Given the description of an element on the screen output the (x, y) to click on. 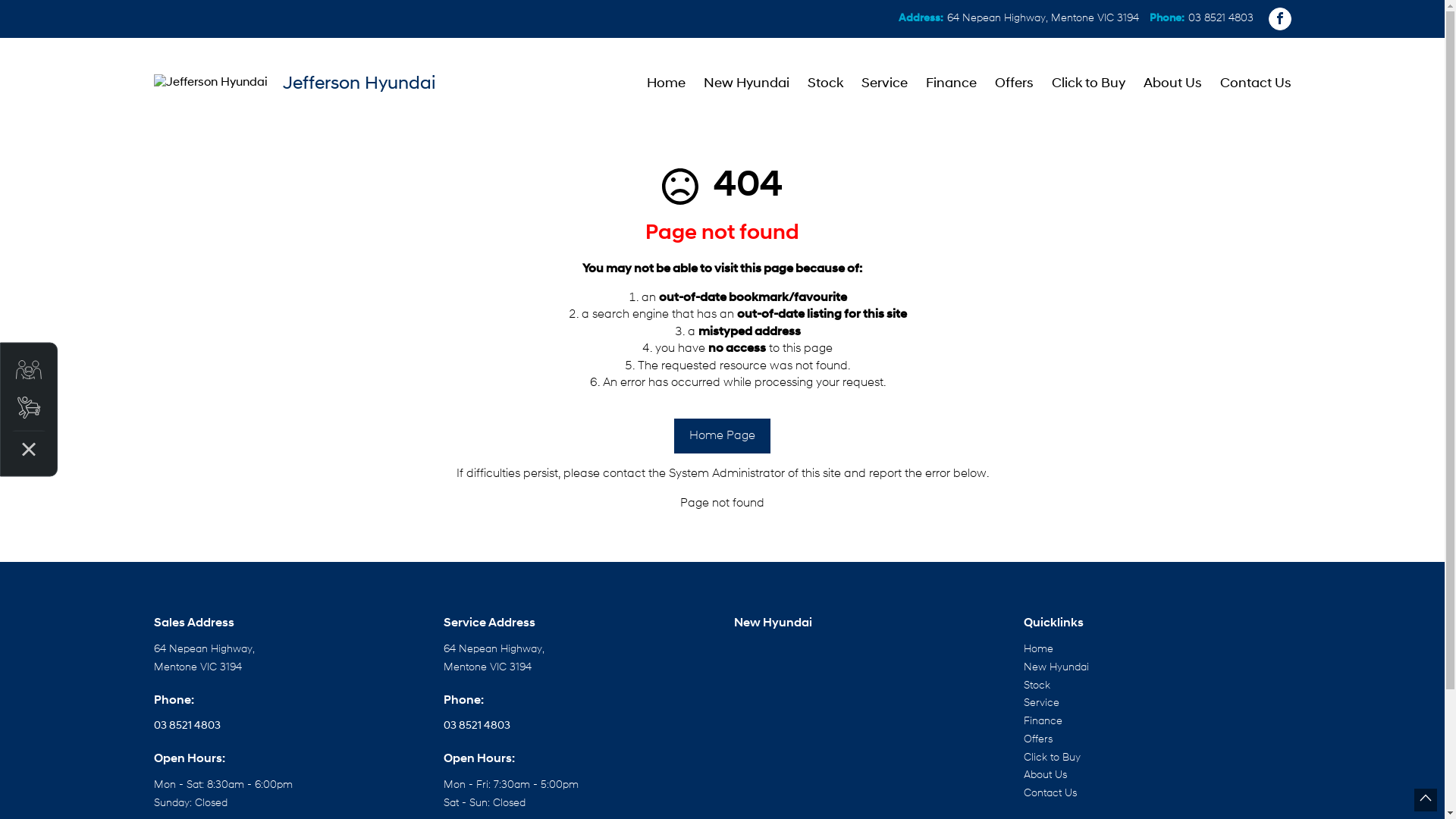
Stock Element type: text (824, 82)
New Hyundai Element type: text (1055, 667)
Jefferson Hyundai Element type: text (293, 81)
64 Nepean Highway, Mentone VIC 3194 Element type: text (1042, 18)
03 8521 4803 Element type: text (186, 725)
Offers Element type: text (1013, 82)
Contact Us Element type: text (1250, 82)
Service Element type: text (884, 82)
Finance Element type: text (950, 82)
03 8521 4803 Element type: text (1219, 18)
Contact Us Element type: text (1049, 793)
About Us Element type: text (1044, 775)
Service Element type: text (1041, 703)
Click to Buy Element type: text (1087, 82)
03 8521 4803 Element type: text (476, 725)
About Us Element type: text (1172, 82)
Click to Buy Element type: text (1051, 757)
Home Page Element type: text (722, 435)
Home Element type: text (1038, 649)
Stock Element type: text (1036, 684)
New Hyundai Element type: text (746, 82)
Offers Element type: text (1037, 739)
Finance Element type: text (1042, 721)
Home Element type: text (665, 82)
